Given the description of an element on the screen output the (x, y) to click on. 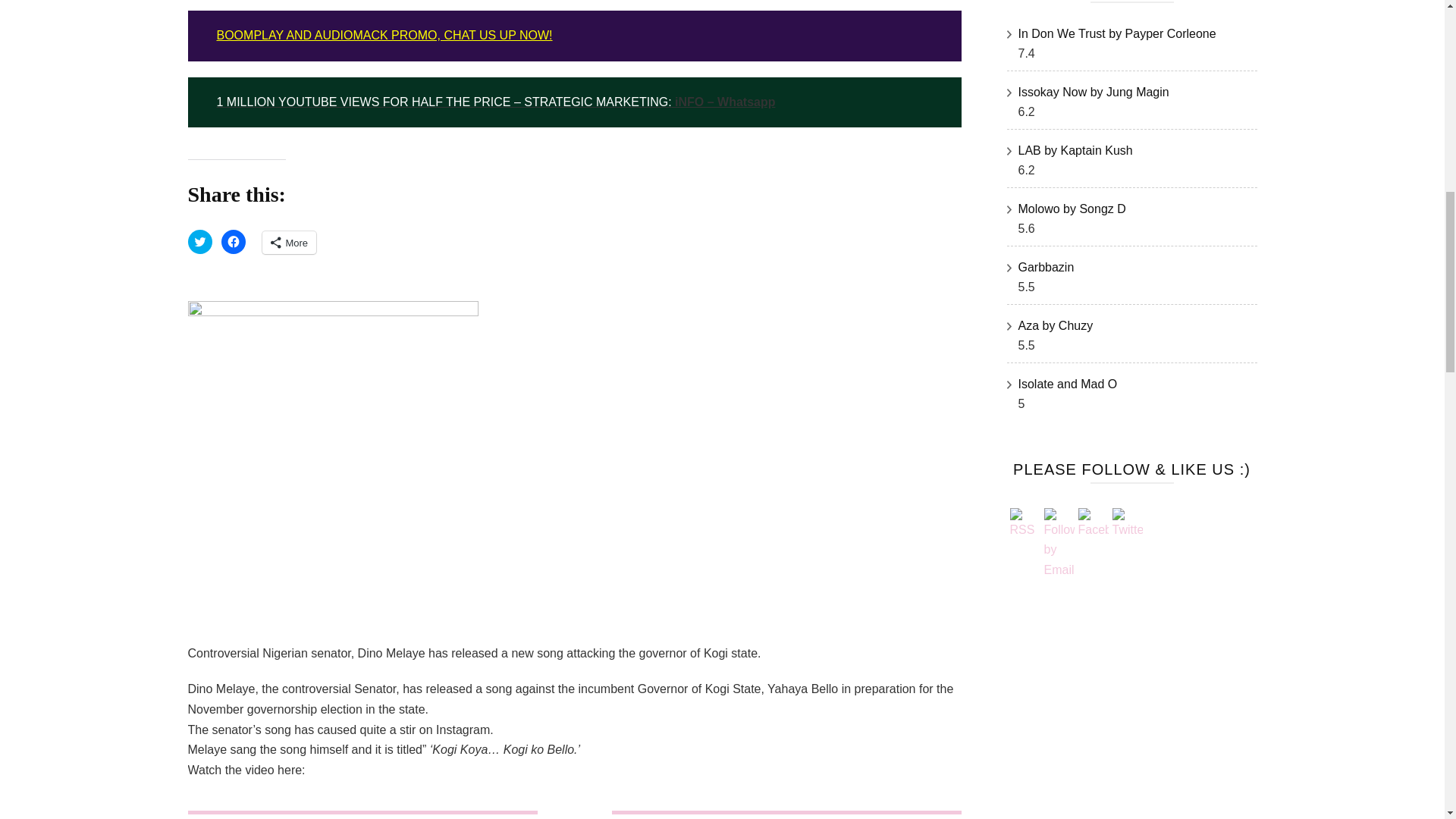
Click to share on Twitter (199, 241)
Click to share on Facebook (233, 241)
